Given the description of an element on the screen output the (x, y) to click on. 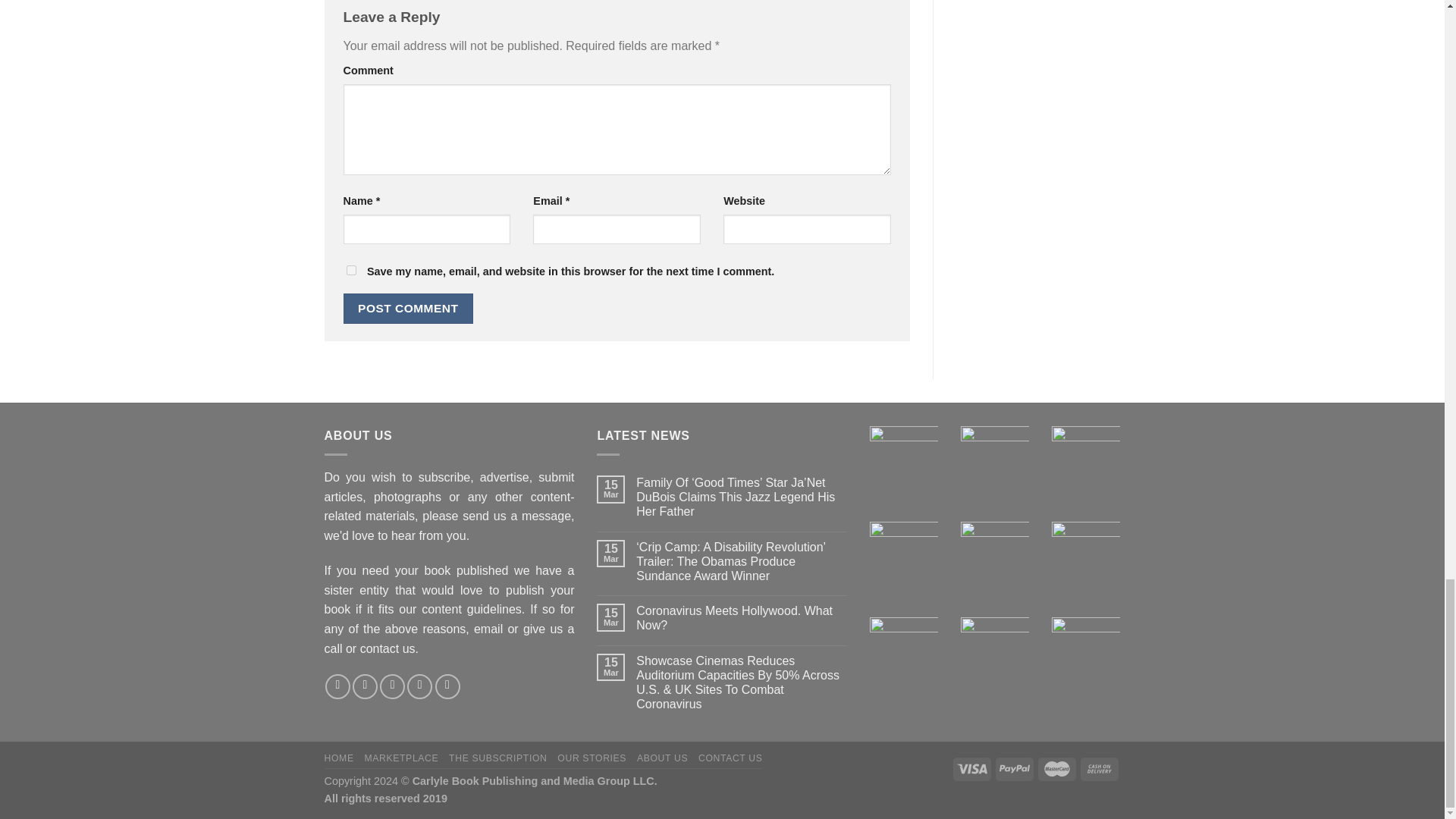
yes (350, 270)
Post Comment (407, 307)
